Given the description of an element on the screen output the (x, y) to click on. 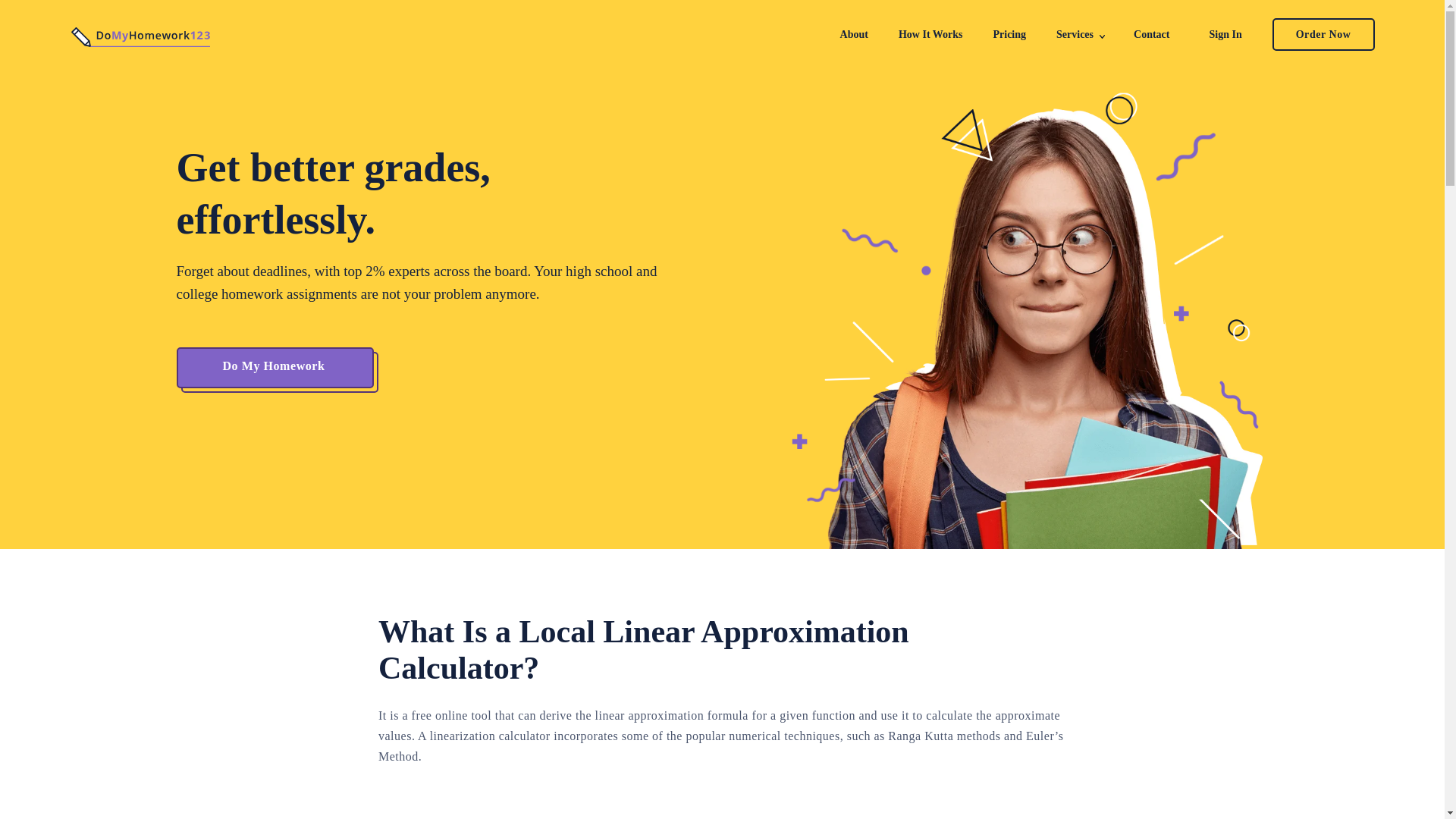
About (853, 34)
Services (1075, 34)
Pricing (1009, 34)
How It Works (930, 34)
